Given the description of an element on the screen output the (x, y) to click on. 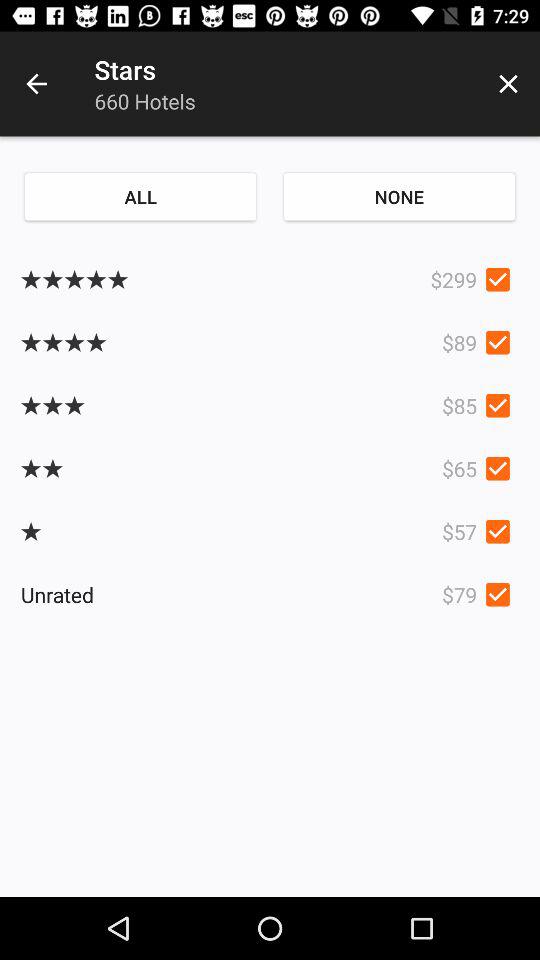
select item next to none (140, 196)
